Given the description of an element on the screen output the (x, y) to click on. 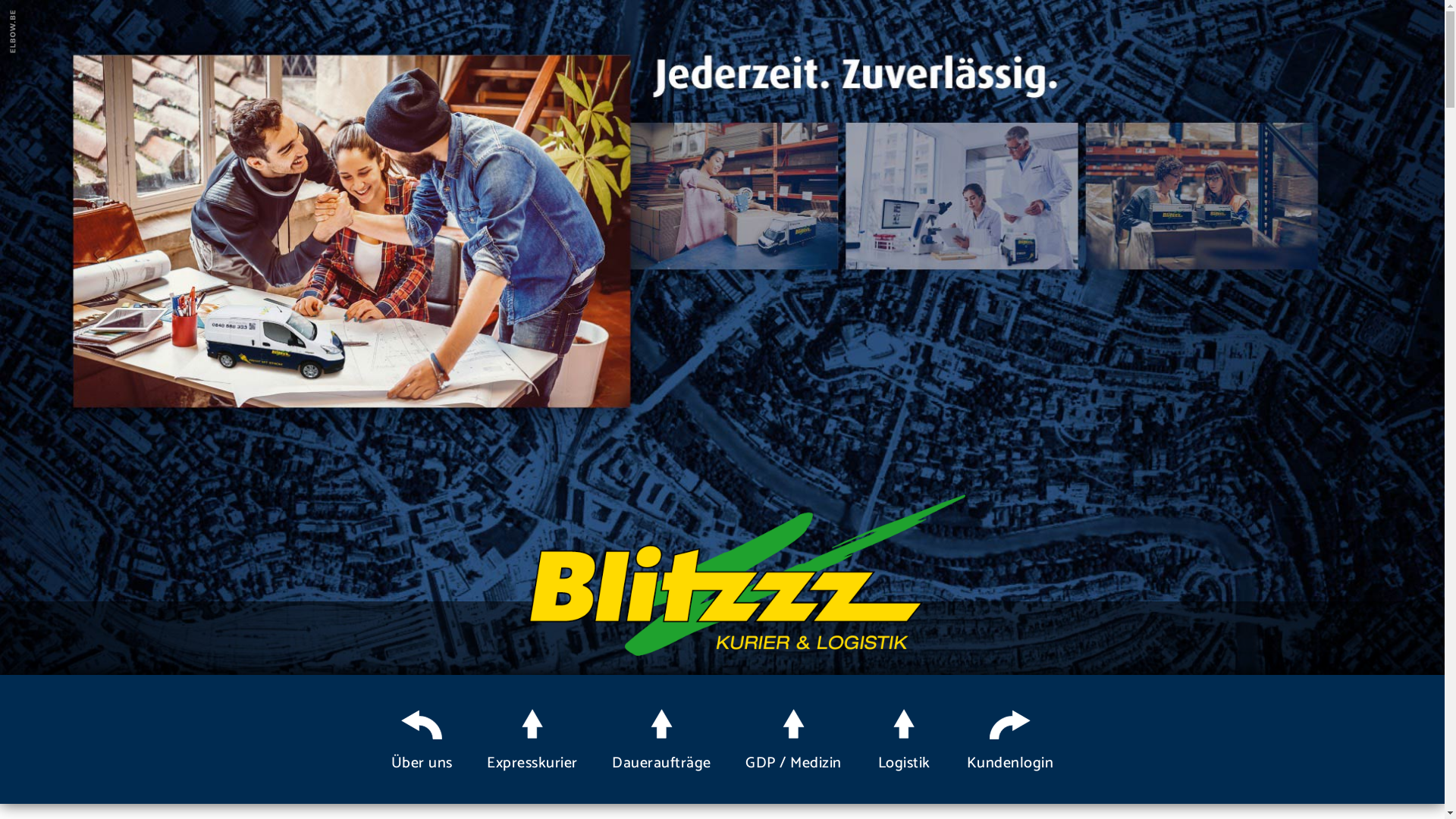
Logistik Element type: text (903, 742)
Expresskurier Element type: text (531, 742)
GDP / Medizin Element type: text (793, 742)
Kundenlogin Element type: text (1010, 742)
